Given the description of an element on the screen output the (x, y) to click on. 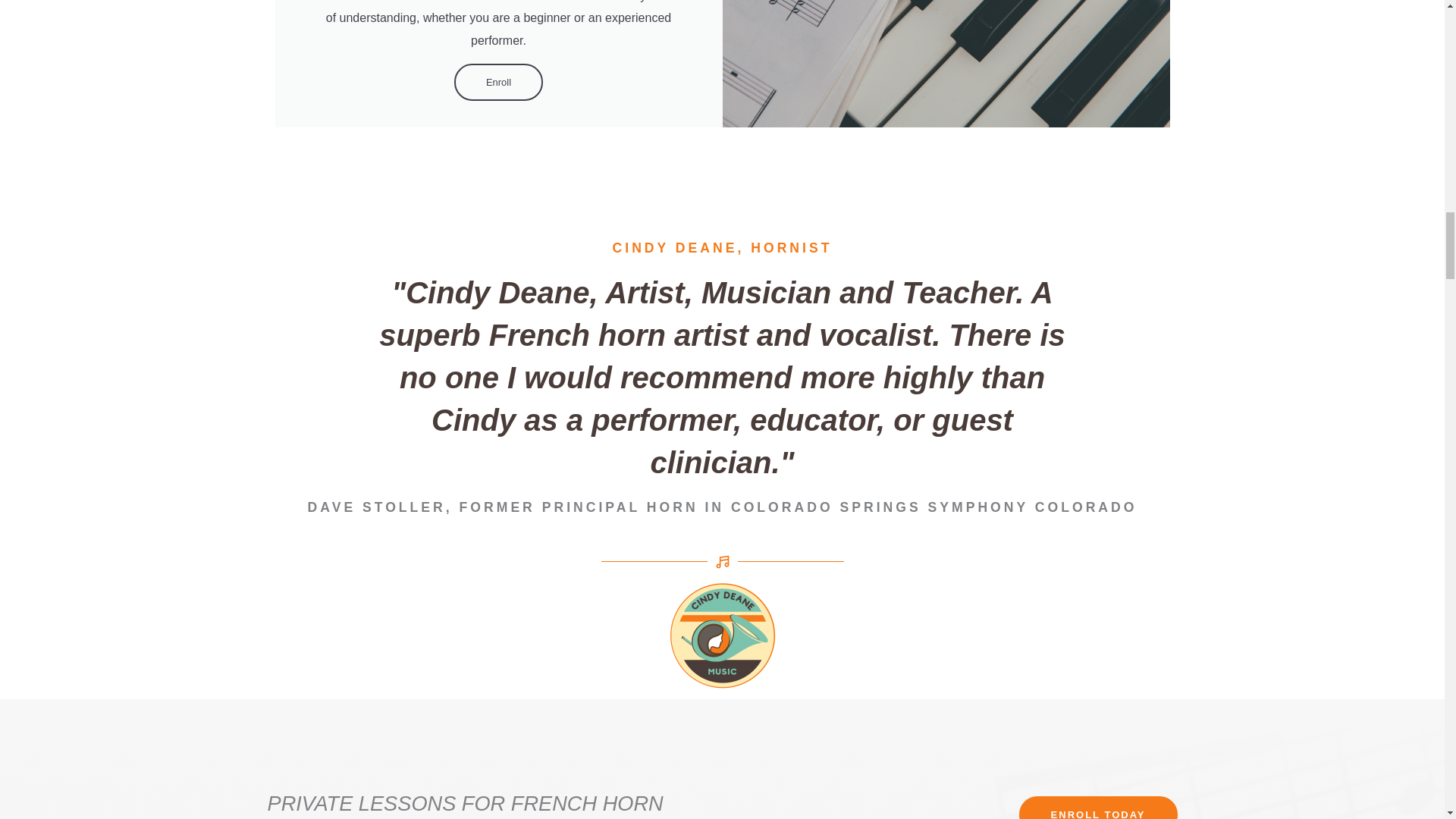
ENROLL TODAY (1098, 807)
